Given the description of an element on the screen output the (x, y) to click on. 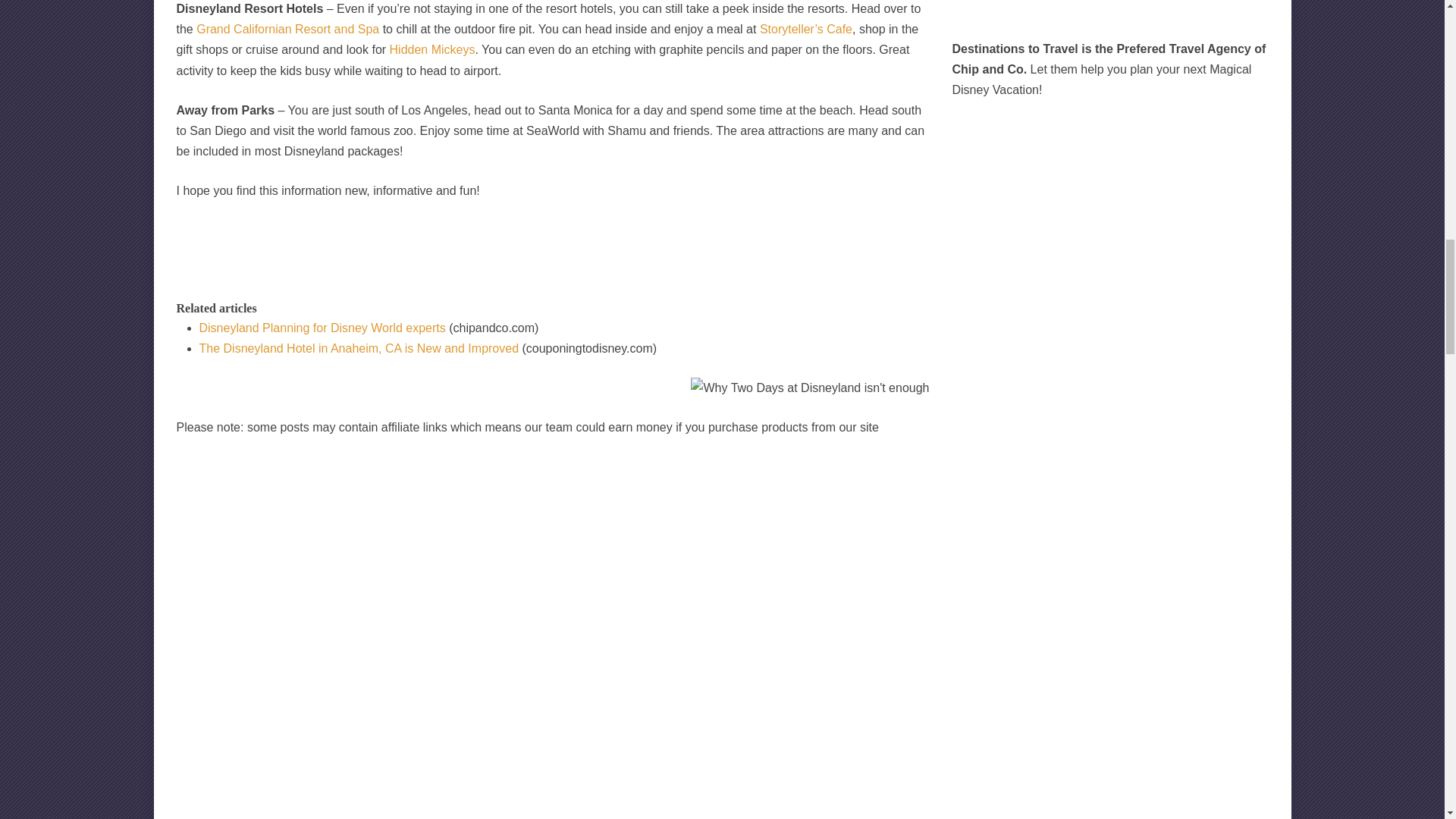
Why Two Days at Disneyland isn't enough (809, 387)
